Given the description of an element on the screen output the (x, y) to click on. 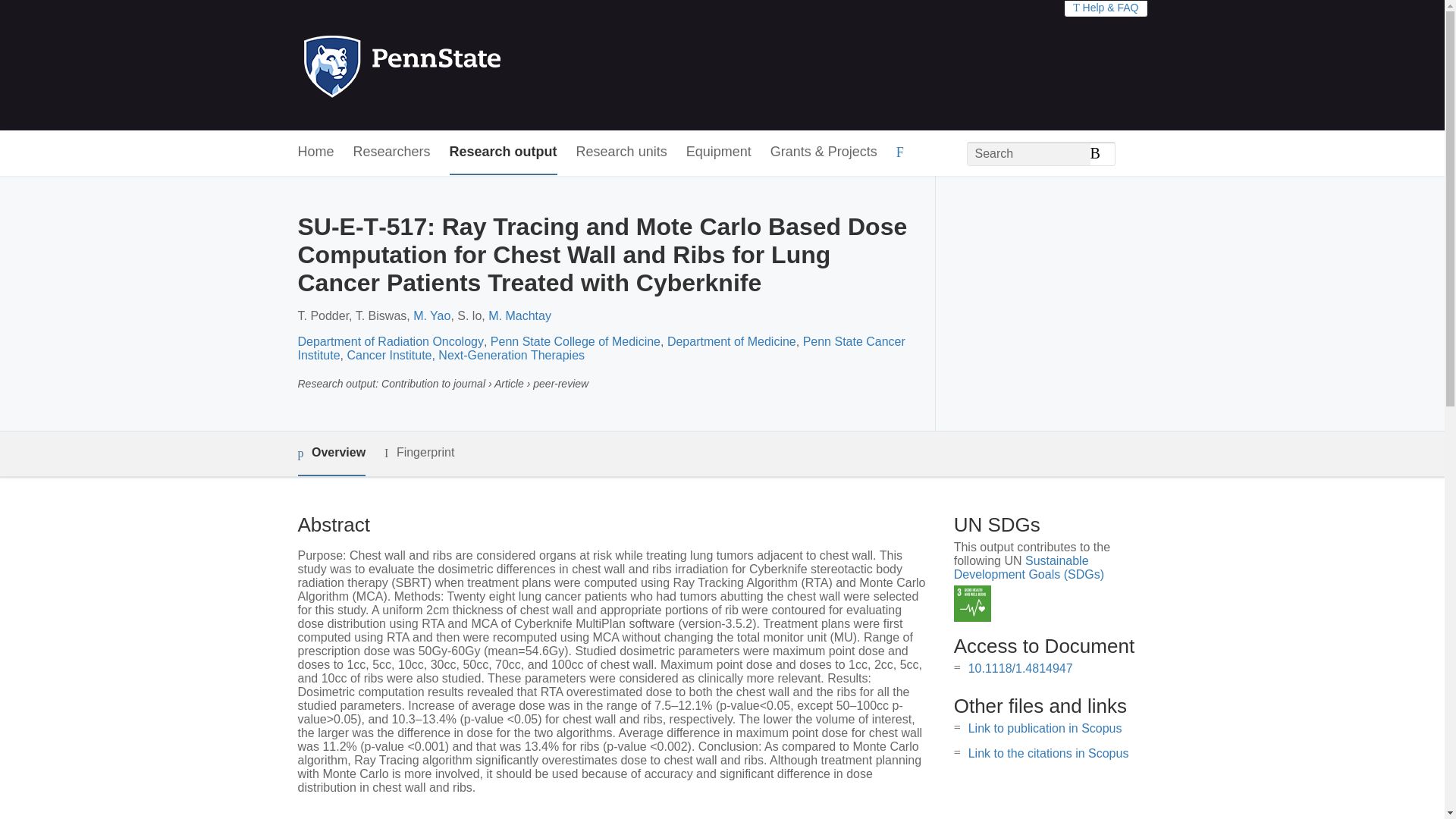
Cancer Institute, Next-Generation Therapies (465, 354)
Researchers (391, 152)
Research units (621, 152)
M. Machtay (519, 315)
Research output (503, 152)
Penn State Home (467, 65)
SDG 3 - Good Health and Well-being (972, 603)
Department of Medicine (731, 341)
Equipment (718, 152)
